Given the description of an element on the screen output the (x, y) to click on. 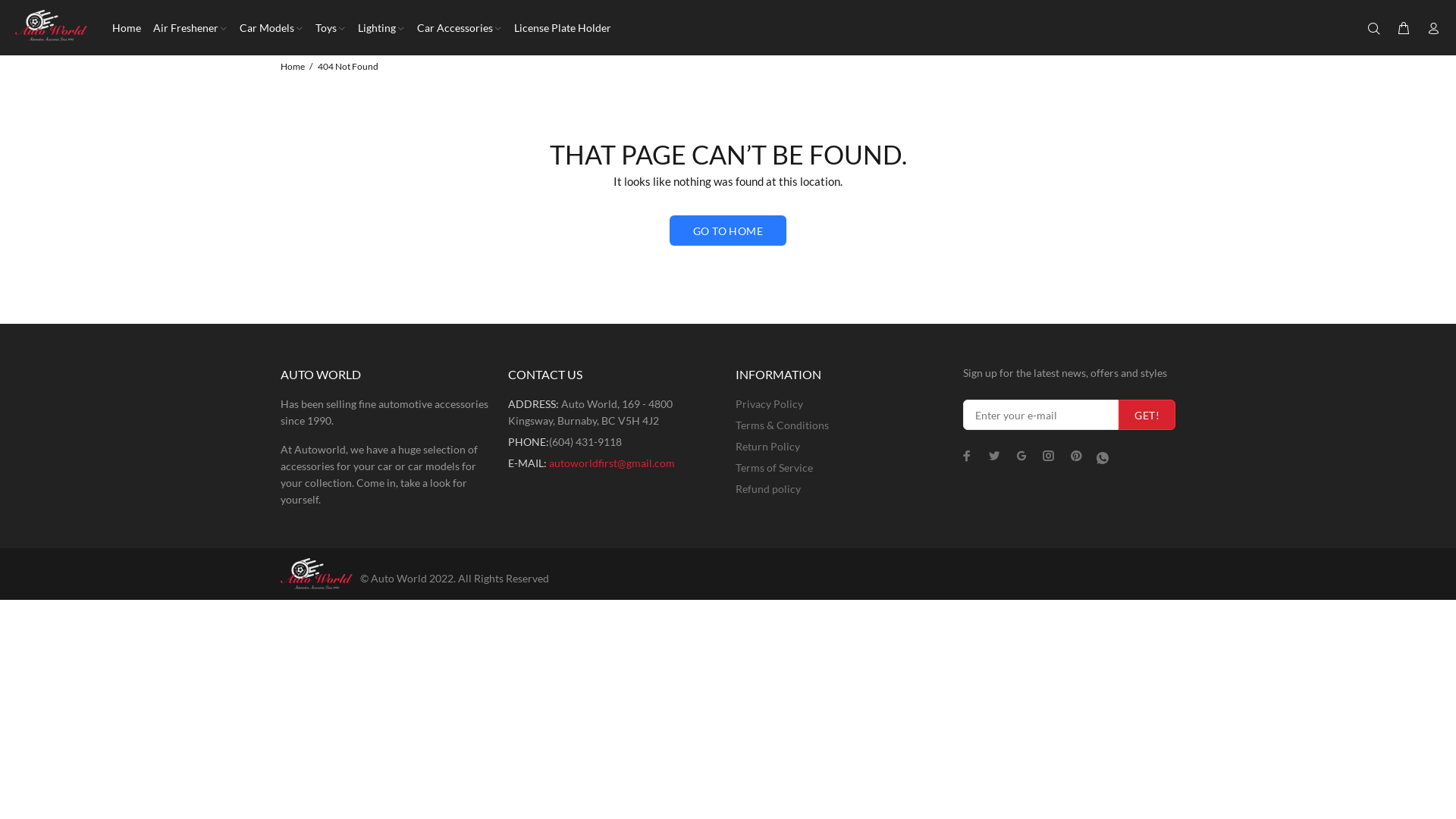
autoworldfirst@gmail.com Element type: text (611, 462)
Car Accessories Element type: text (459, 27)
GO TO HOME Element type: text (727, 230)
Terms & Conditions Element type: text (781, 425)
Home Element type: text (292, 66)
Terms of Service Element type: text (773, 467)
Home Element type: text (125, 27)
Toys Element type: text (330, 27)
Air Freshener Element type: text (190, 27)
Return Policy Element type: text (767, 446)
GET! Element type: text (1146, 414)
Privacy Policy Element type: text (769, 403)
Refund policy Element type: text (767, 488)
Lighting Element type: text (381, 27)
License Plate Holder Element type: text (559, 27)
Car Models Element type: text (271, 27)
